Given the description of an element on the screen output the (x, y) to click on. 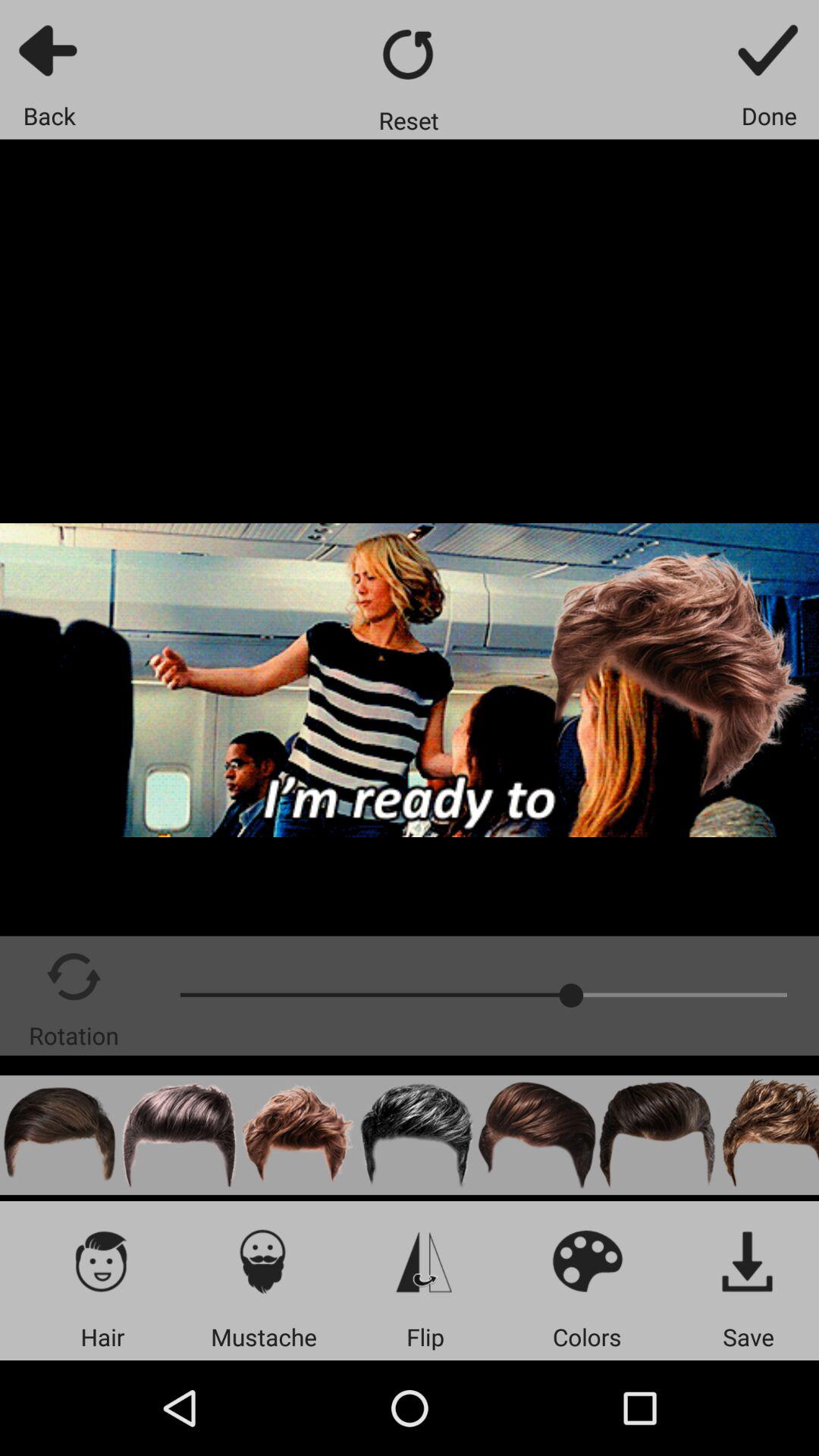
change camera (425, 1260)
